Given the description of an element on the screen output the (x, y) to click on. 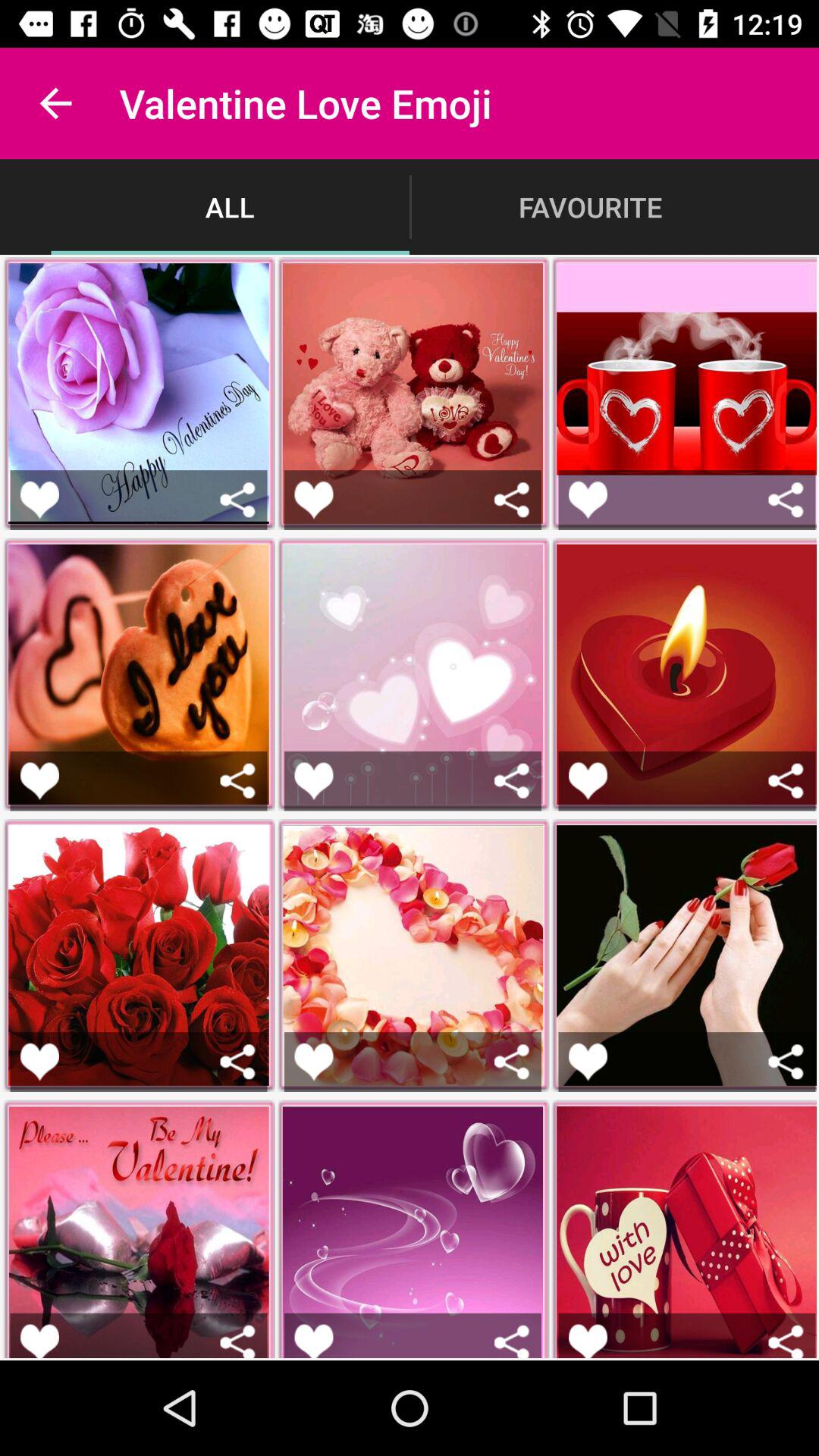
like option (587, 499)
